Given the description of an element on the screen output the (x, y) to click on. 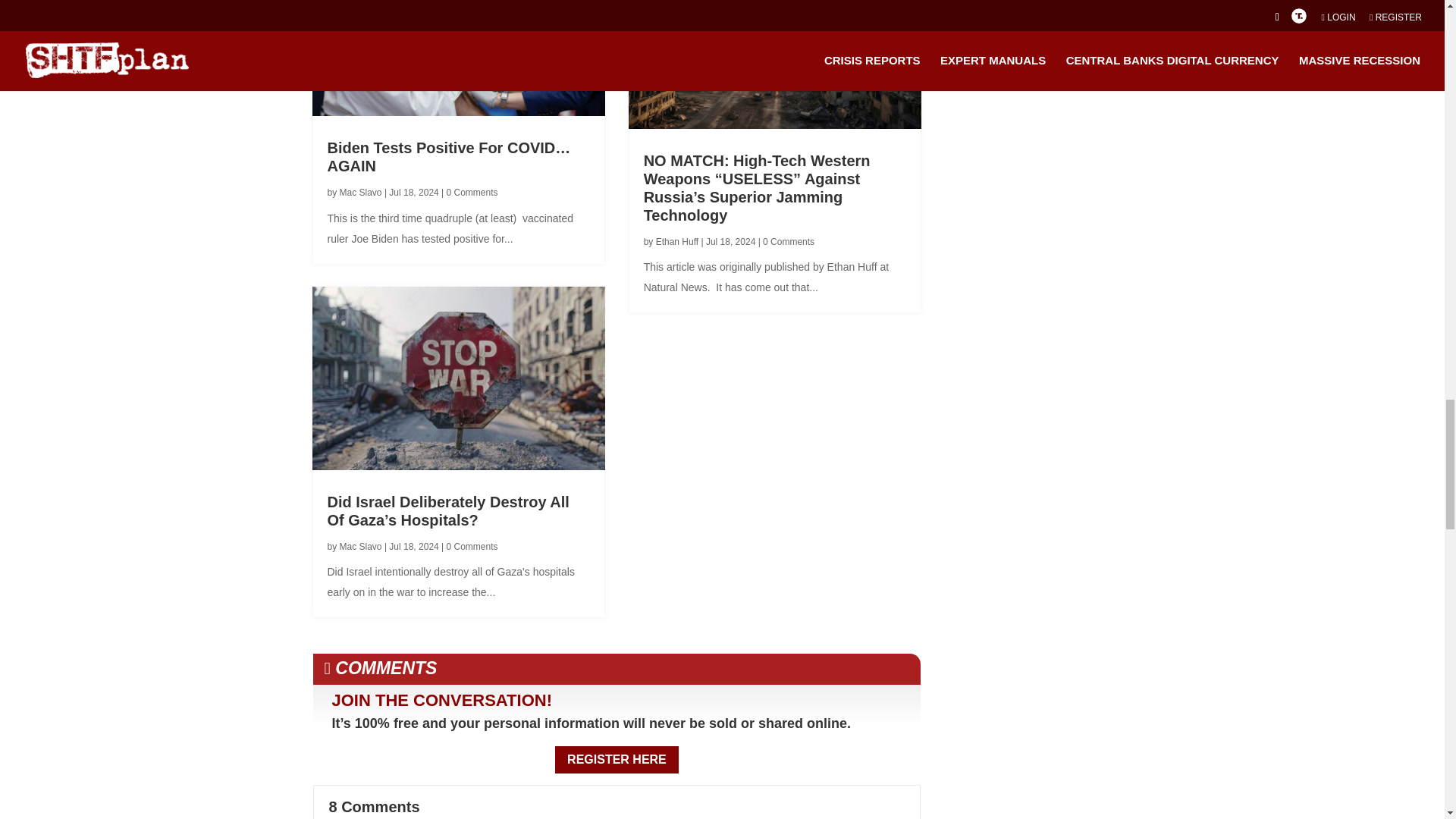
Posts by Mac Slavo (360, 192)
Posts by Ethan Huff (677, 241)
Mac Slavo (360, 546)
Mac Slavo (360, 192)
Posts by Mac Slavo (360, 546)
